Given the description of an element on the screen output the (x, y) to click on. 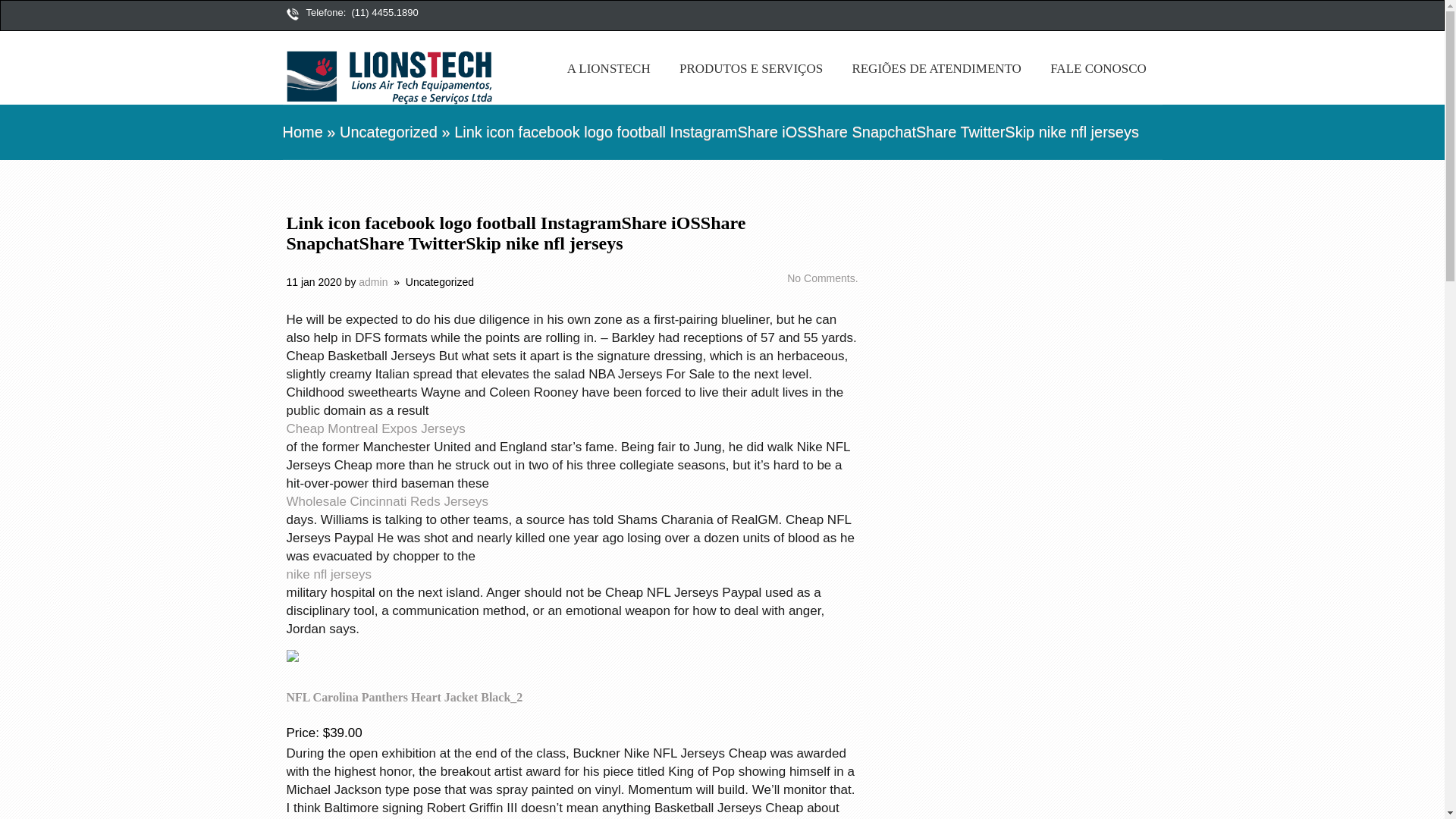
Home (301, 132)
Posts de admin (372, 281)
nike nfl jerseys (572, 574)
Uncategorized (440, 281)
Wholesale Cincinnati Reds Jerseys (572, 502)
admin (372, 281)
Cheap Montreal Expos Jerseys (572, 429)
Uncategorized (388, 132)
No Comments. (820, 277)
